Given the description of an element on the screen output the (x, y) to click on. 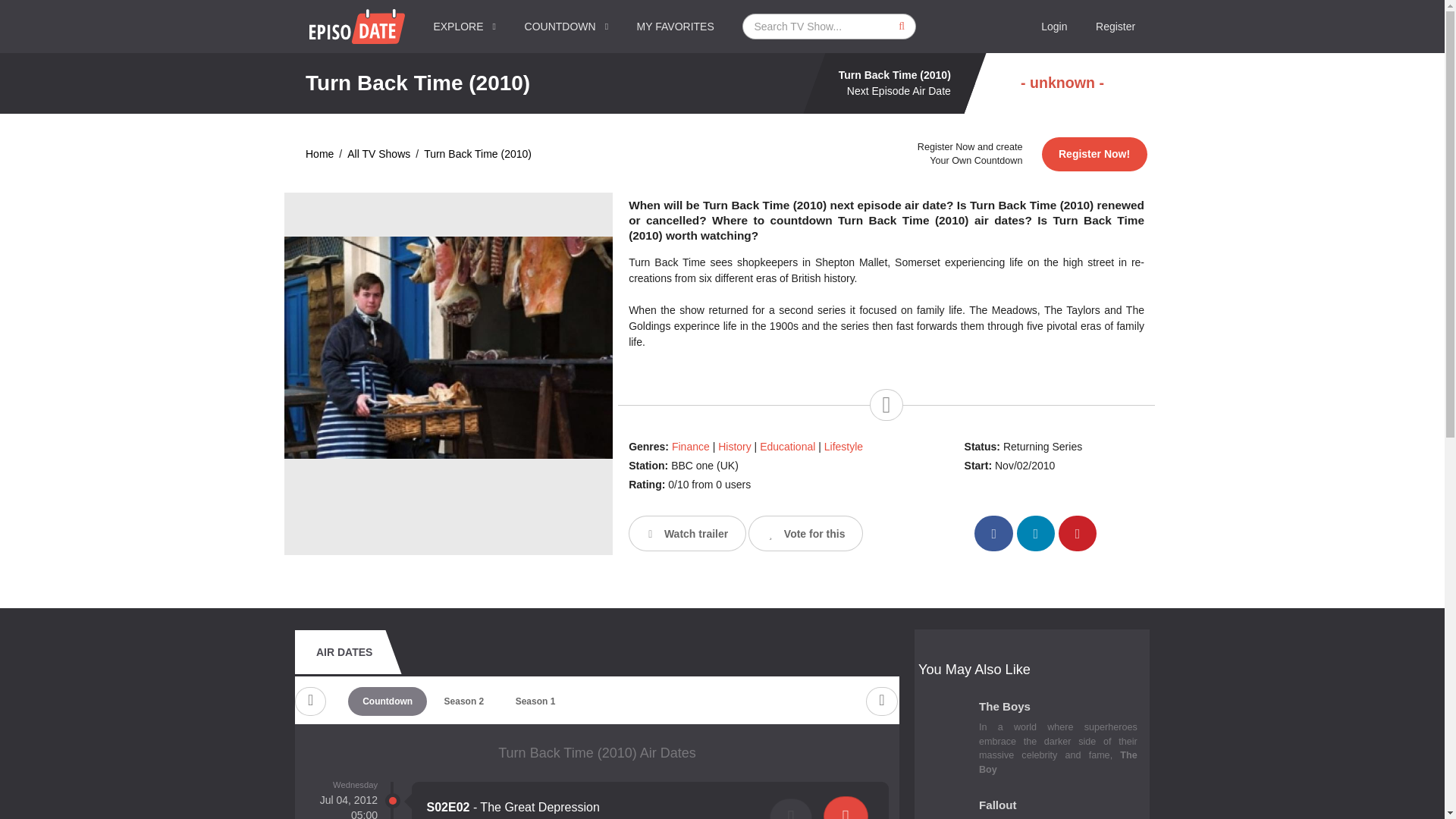
All TV Shows (378, 154)
Register (1115, 26)
Educational (787, 446)
Lifestyle (843, 446)
Register Now! (1094, 154)
MY FAVORITES (676, 26)
Vote for this (805, 533)
Login (1053, 26)
Watch trailer (686, 533)
History (734, 446)
